Given the description of an element on the screen output the (x, y) to click on. 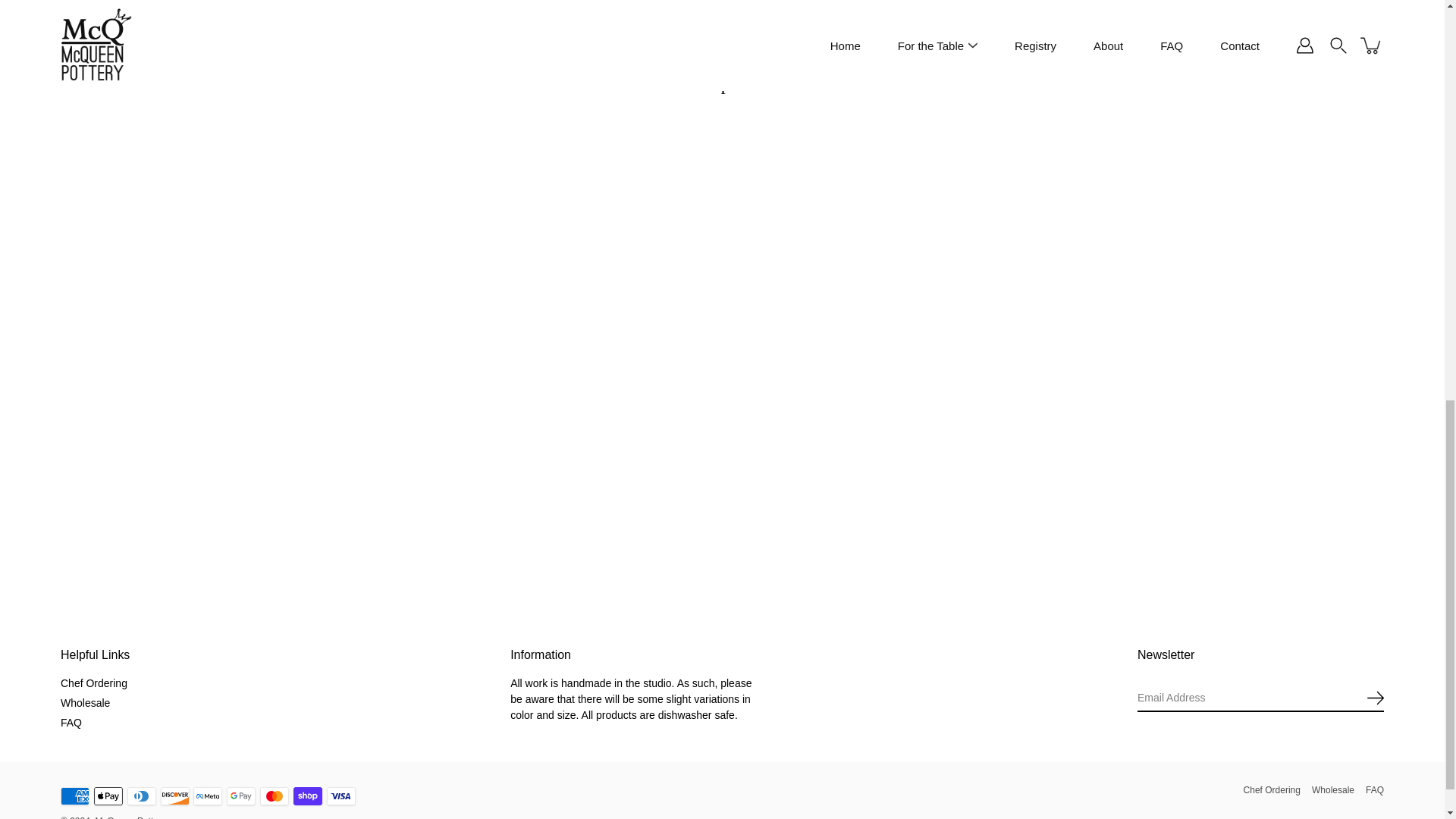
Discover (174, 796)
Apple Pay (108, 796)
American Express (74, 796)
Shop Pay (307, 796)
Google Pay (241, 796)
Diners Club (141, 796)
Mastercard (274, 796)
Visa (340, 796)
Meta Pay (207, 796)
